Given the description of an element on the screen output the (x, y) to click on. 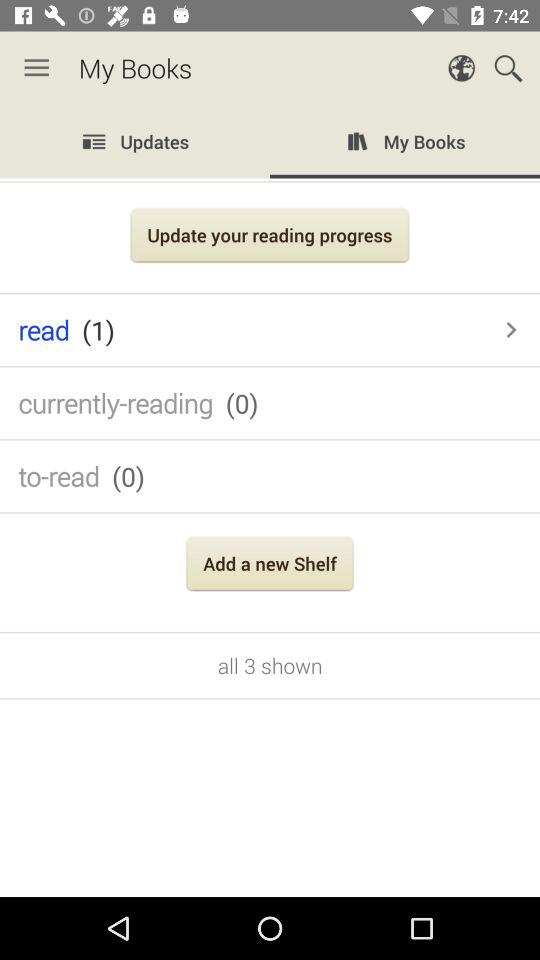
press the item on the right (511, 329)
